Given the description of an element on the screen output the (x, y) to click on. 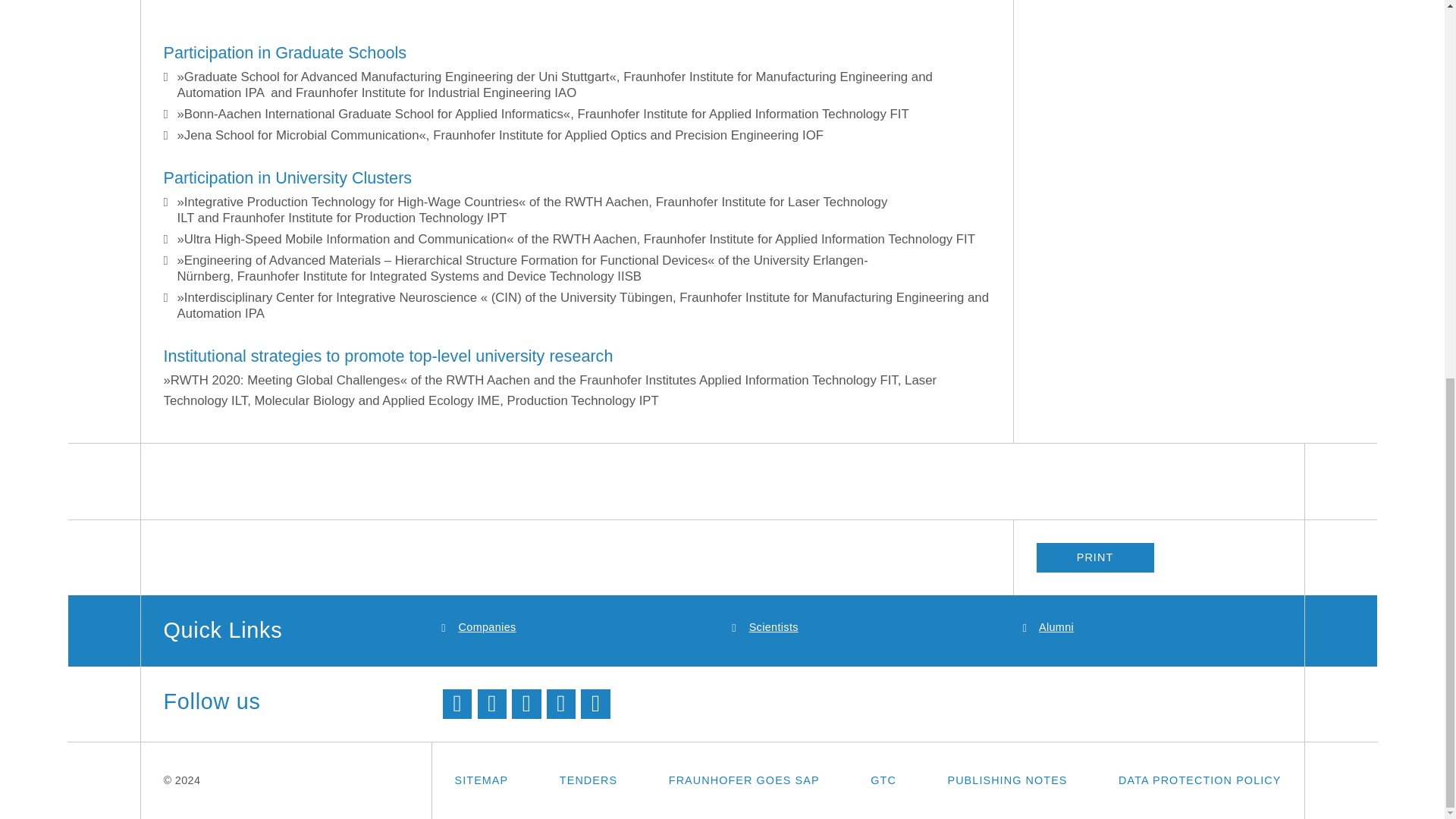
Visit us on Instagram (595, 704)
